Given the description of an element on the screen output the (x, y) to click on. 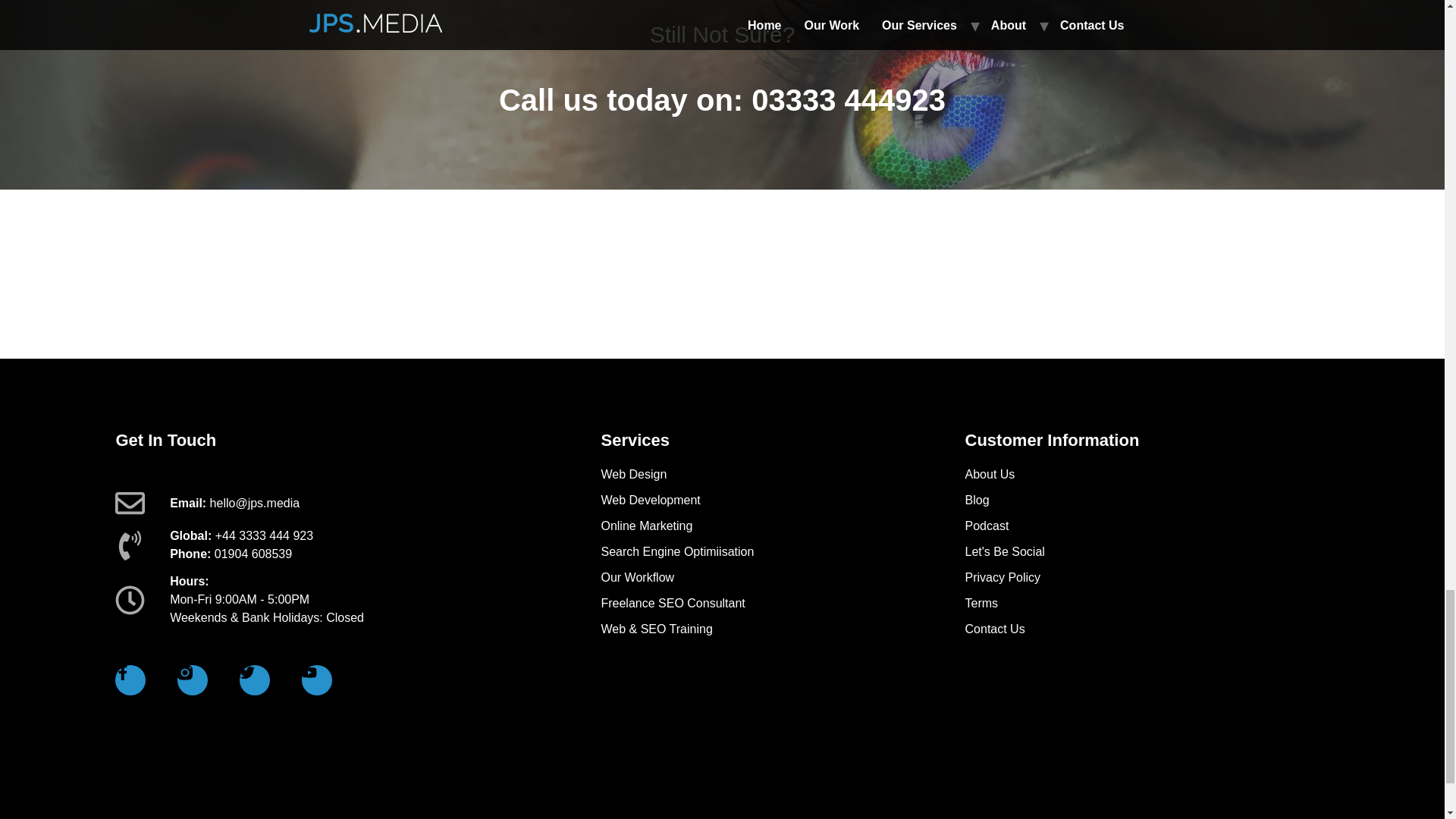
Online Marketing (781, 525)
Web Development (781, 500)
Blog (1147, 500)
Web Design (781, 475)
Search Engine Optimiisation (781, 551)
Our Workflow (781, 577)
Let's Be Social (1147, 551)
Podcast (1147, 525)
Freelance SEO Consultant (781, 603)
DMCA.com Protection Status (1215, 793)
